Given the description of an element on the screen output the (x, y) to click on. 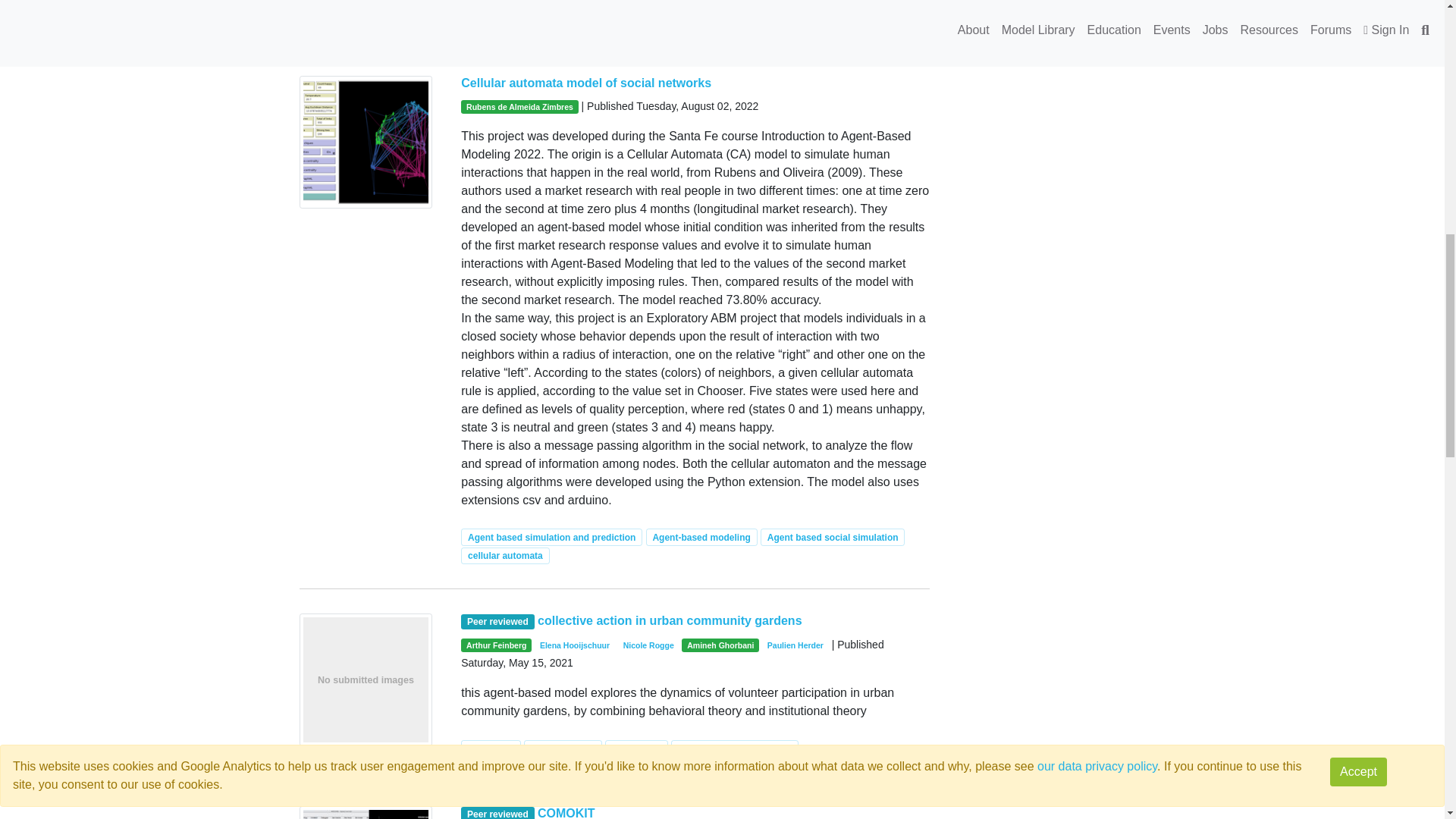
Cellular automata model of social networks (586, 82)
hiv (474, 17)
epidemic (570, 17)
interventions (635, 17)
epidemiology (710, 17)
Rubens de Almeida Zimbres (519, 106)
chicago (884, 17)
NetLogo (516, 17)
high fidelity modeling (803, 17)
